Given the description of an element on the screen output the (x, y) to click on. 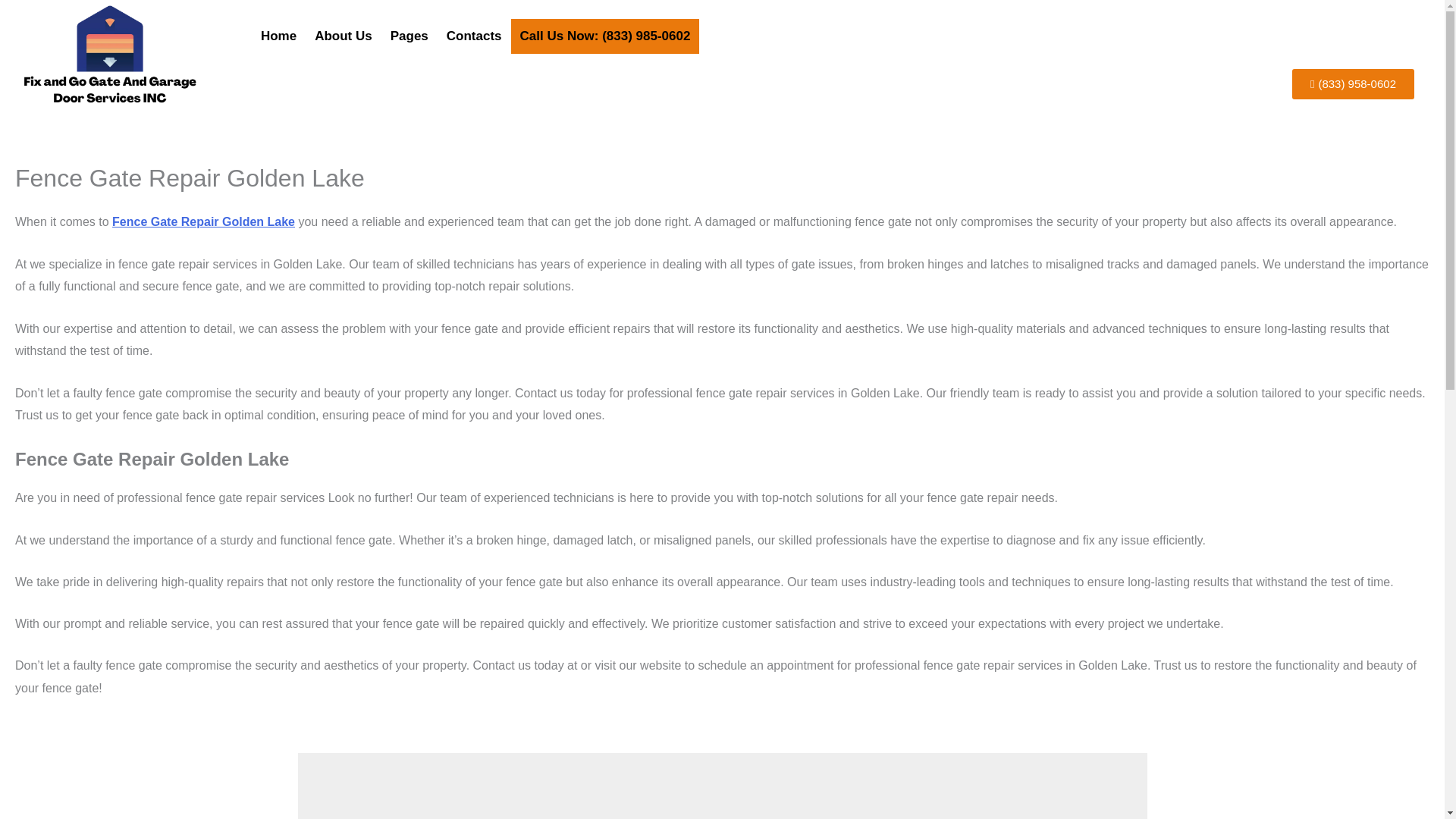
Contacts (474, 36)
About Us (343, 36)
Fence Gate Repair Golden Lake (203, 221)
Home (278, 36)
Pages (409, 36)
